Given the description of an element on the screen output the (x, y) to click on. 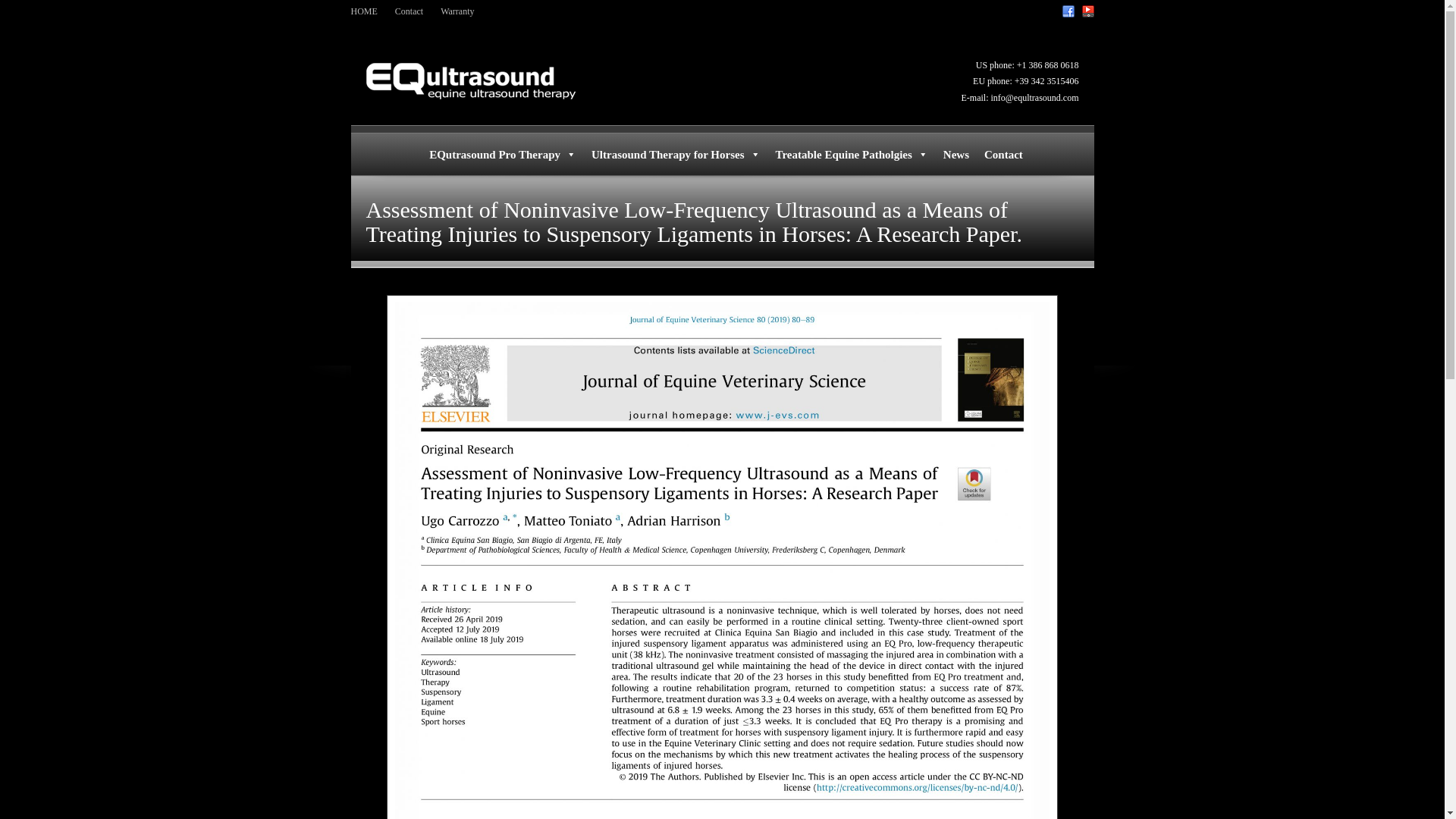
Treatable Equine Patholgies (852, 154)
HOME (363, 10)
Contact (1003, 154)
News (956, 154)
EQutrasound Pro Therapy (502, 154)
Warranty (457, 10)
Contact (408, 10)
Ultrasound Therapy for Horses (675, 154)
